Given the description of an element on the screen output the (x, y) to click on. 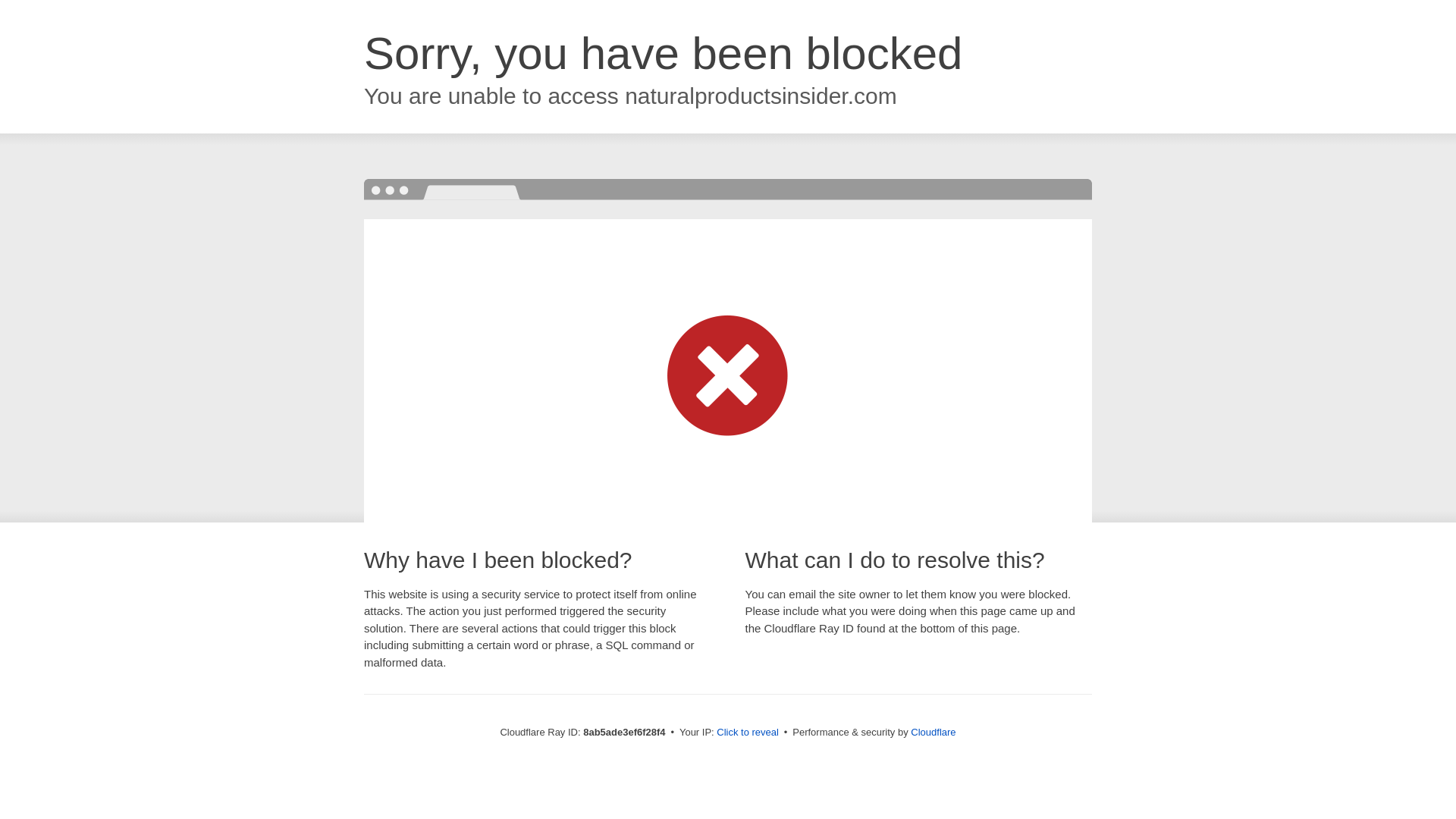
Click to reveal (747, 732)
Cloudflare (933, 731)
